Given the description of an element on the screen output the (x, y) to click on. 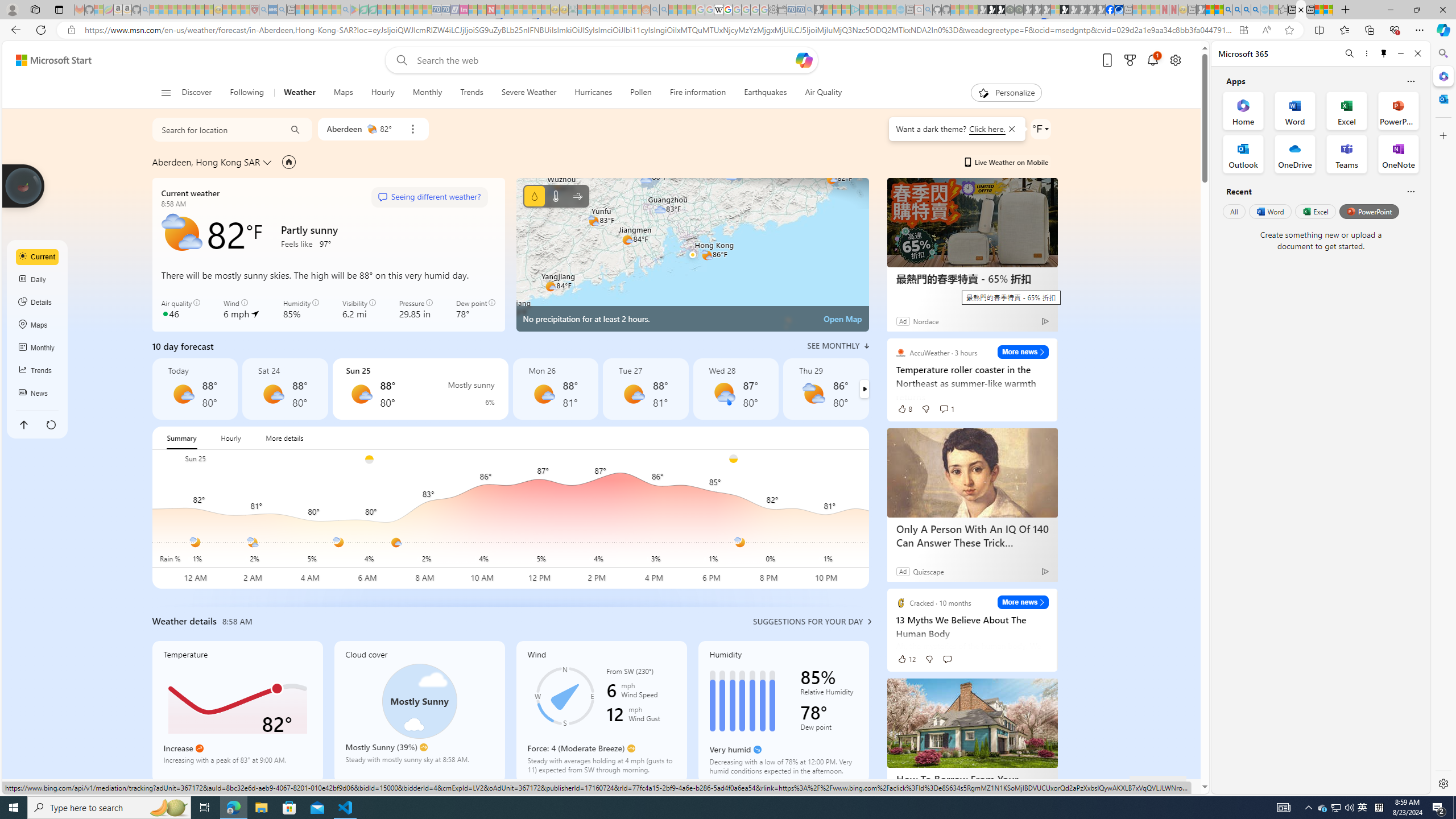
Join us in planting real trees to help our planet! (23, 184)
utah sues federal government - Search - Sleeping (281, 9)
Air quality 46 (180, 309)
Settings - Sleeping (773, 9)
Wind (601, 711)
Is this helpful? (1410, 191)
Close Microsoft 365 pane (1442, 76)
